Given the description of an element on the screen output the (x, y) to click on. 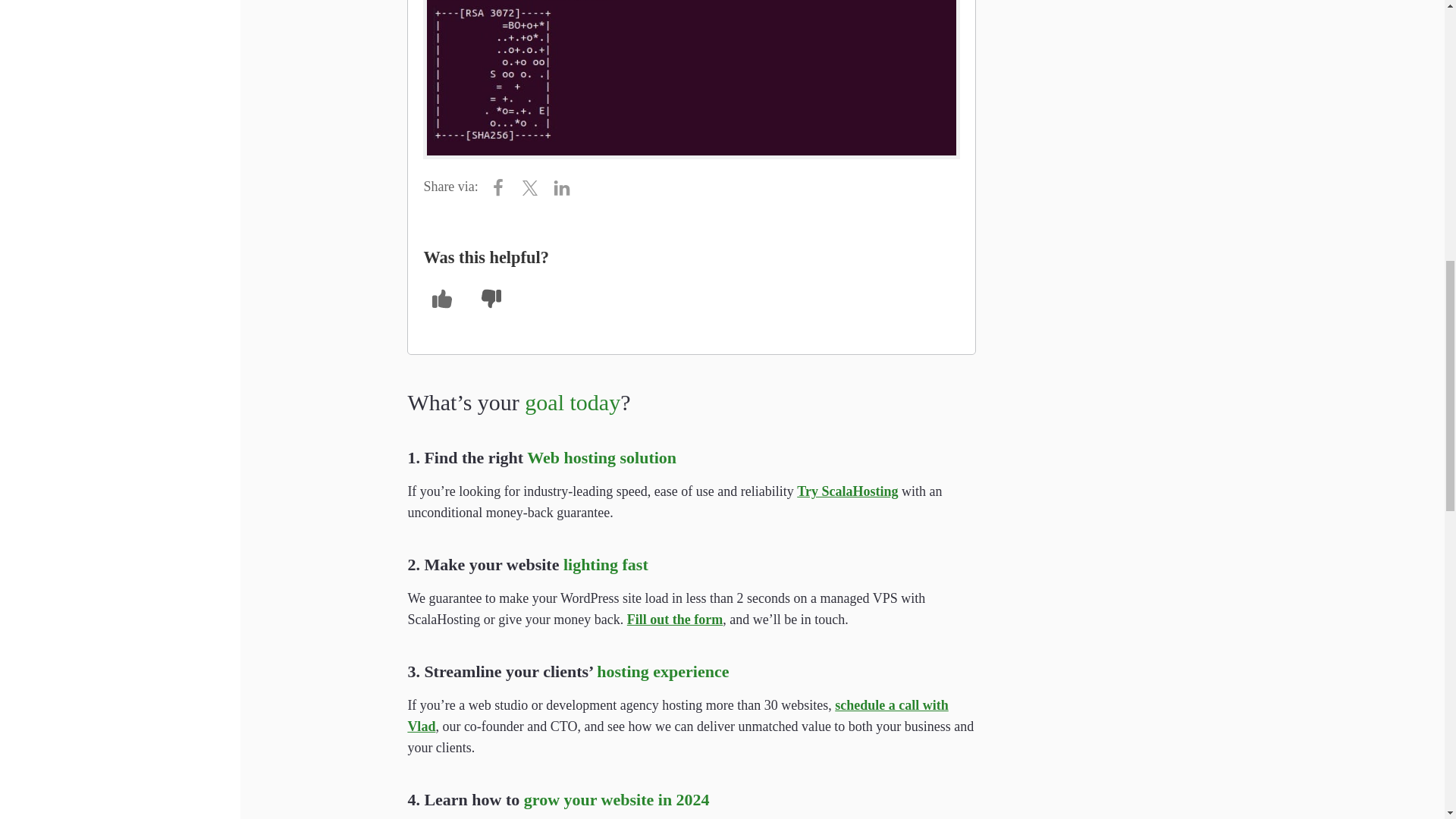
Share on Facebook (502, 186)
Share on Twitter (534, 186)
Share on LinkedIn (565, 186)
